Given the description of an element on the screen output the (x, y) to click on. 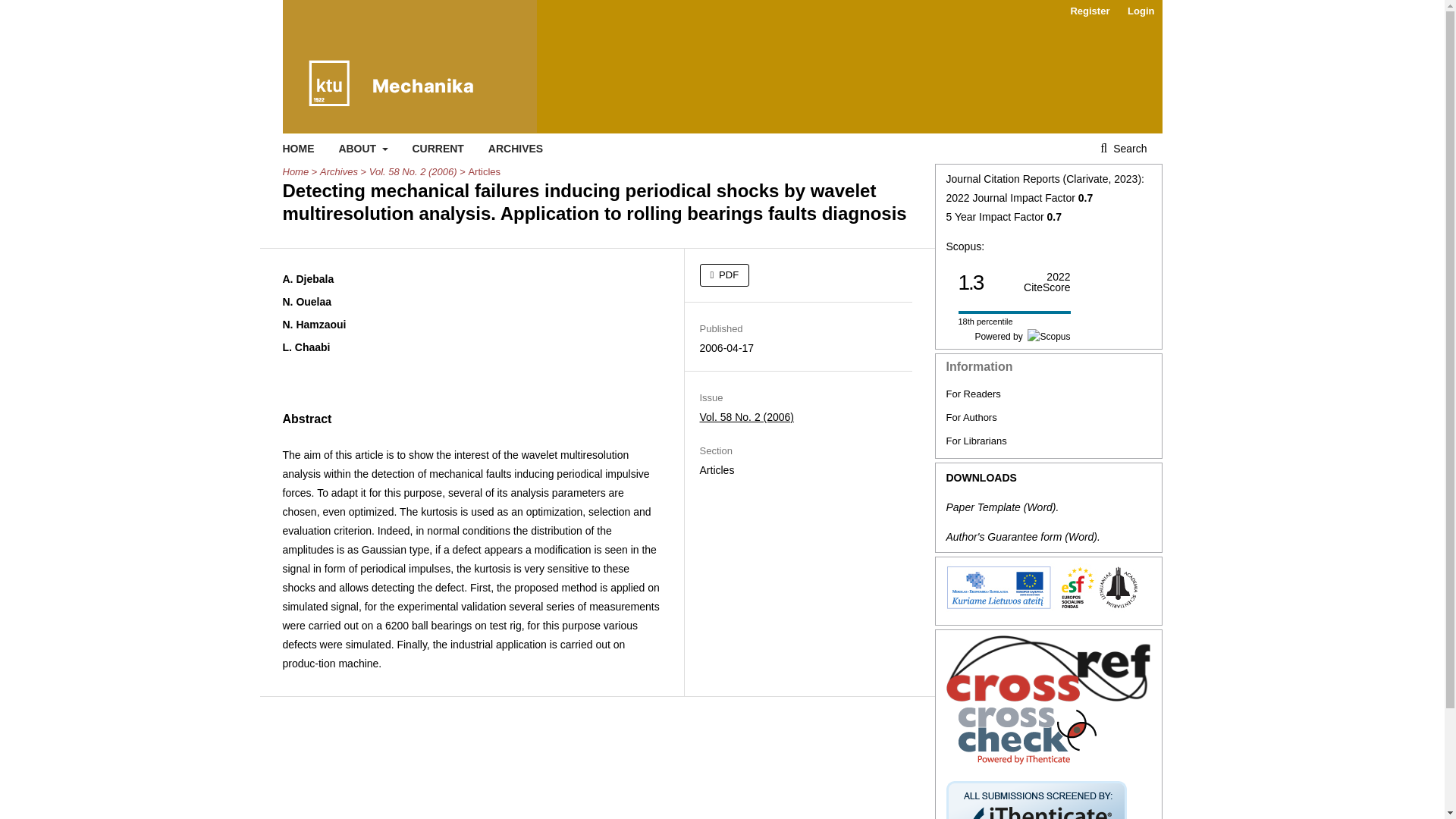
HOME (298, 148)
Login (1140, 11)
PDF (723, 274)
Archives (339, 171)
For Librarians (976, 440)
Register (1089, 11)
Author's Guarantee form (1004, 536)
Search (1122, 148)
Paper Template (983, 507)
ABOUT (362, 148)
For Authors (971, 417)
CURRENT (437, 148)
Home (295, 171)
ARCHIVES (515, 148)
For Readers (973, 393)
